Given the description of an element on the screen output the (x, y) to click on. 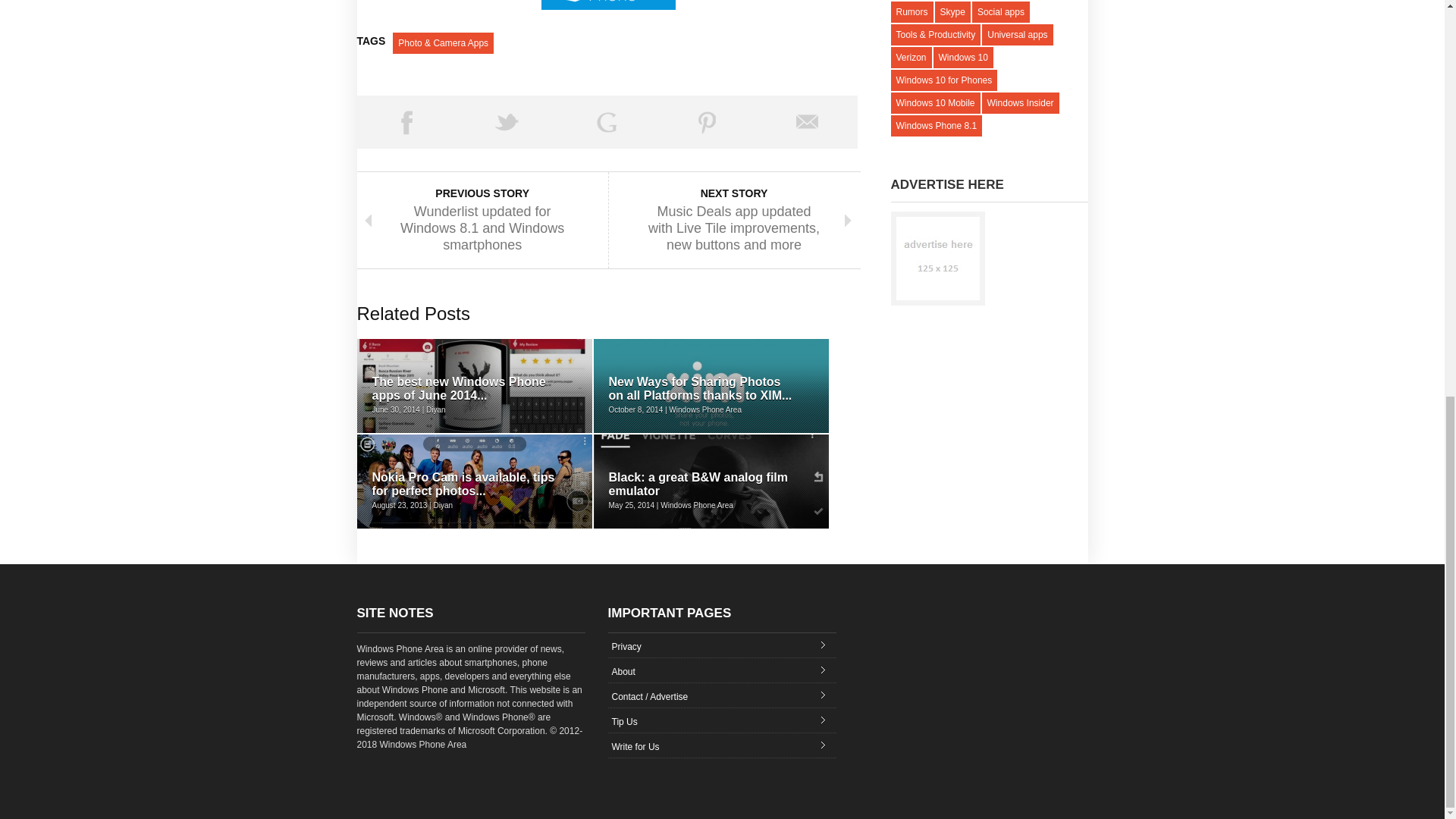
Share on Facebook (406, 121)
Email This (807, 121)
Pin This (707, 121)
Tweet This (507, 121)
Share on Google Plus (607, 121)
